Given the description of an element on the screen output the (x, y) to click on. 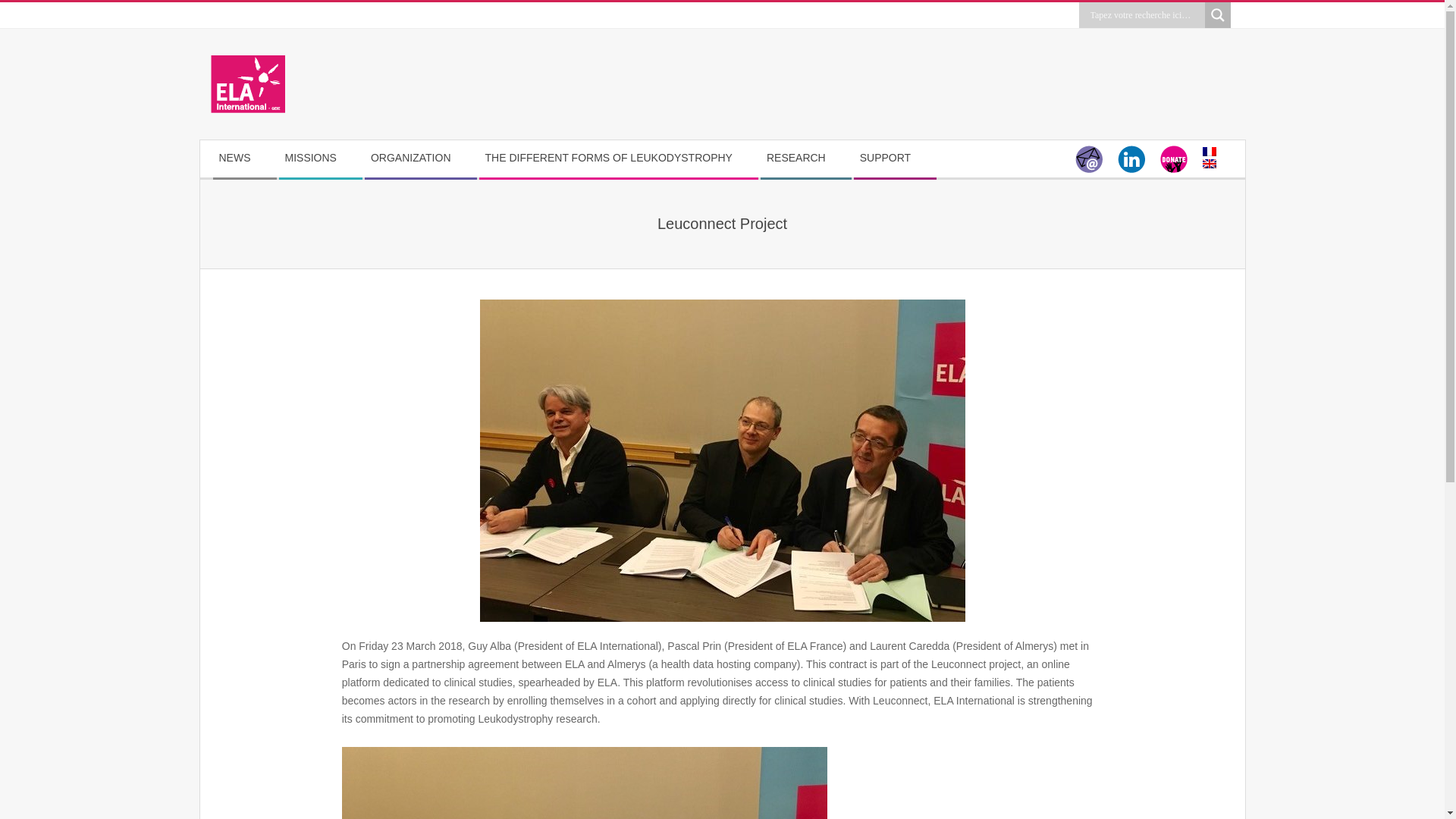
MISSIONS (320, 158)
ORGANIZATION (419, 158)
Start search (1105, 33)
RESEARCH (804, 158)
NEWS (243, 158)
THE DIFFERENT FORMS OF LEUKODYSTROPHY (617, 158)
